Given the description of an element on the screen output the (x, y) to click on. 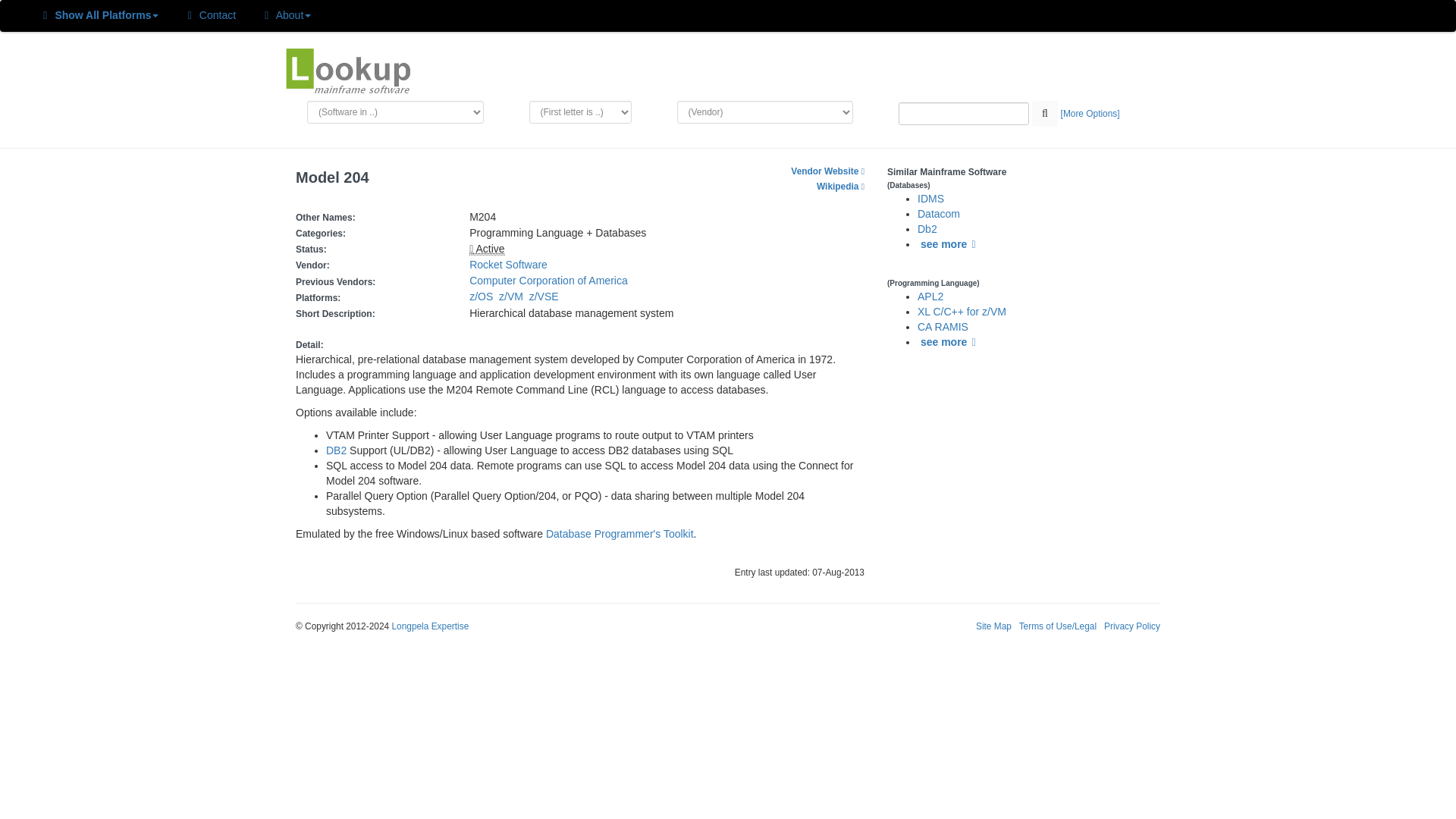
Datacom (938, 214)
Rocket Software (507, 264)
Show All Platforms (98, 15)
See information about Computer Corporation of America (547, 280)
See more information about DB2 (336, 450)
see more (949, 341)
Click to Search for Software (1045, 113)
IDMS (930, 198)
Database Programmer's Toolkit (620, 533)
List mainframe software starting with this letter (580, 111)
